Given the description of an element on the screen output the (x, y) to click on. 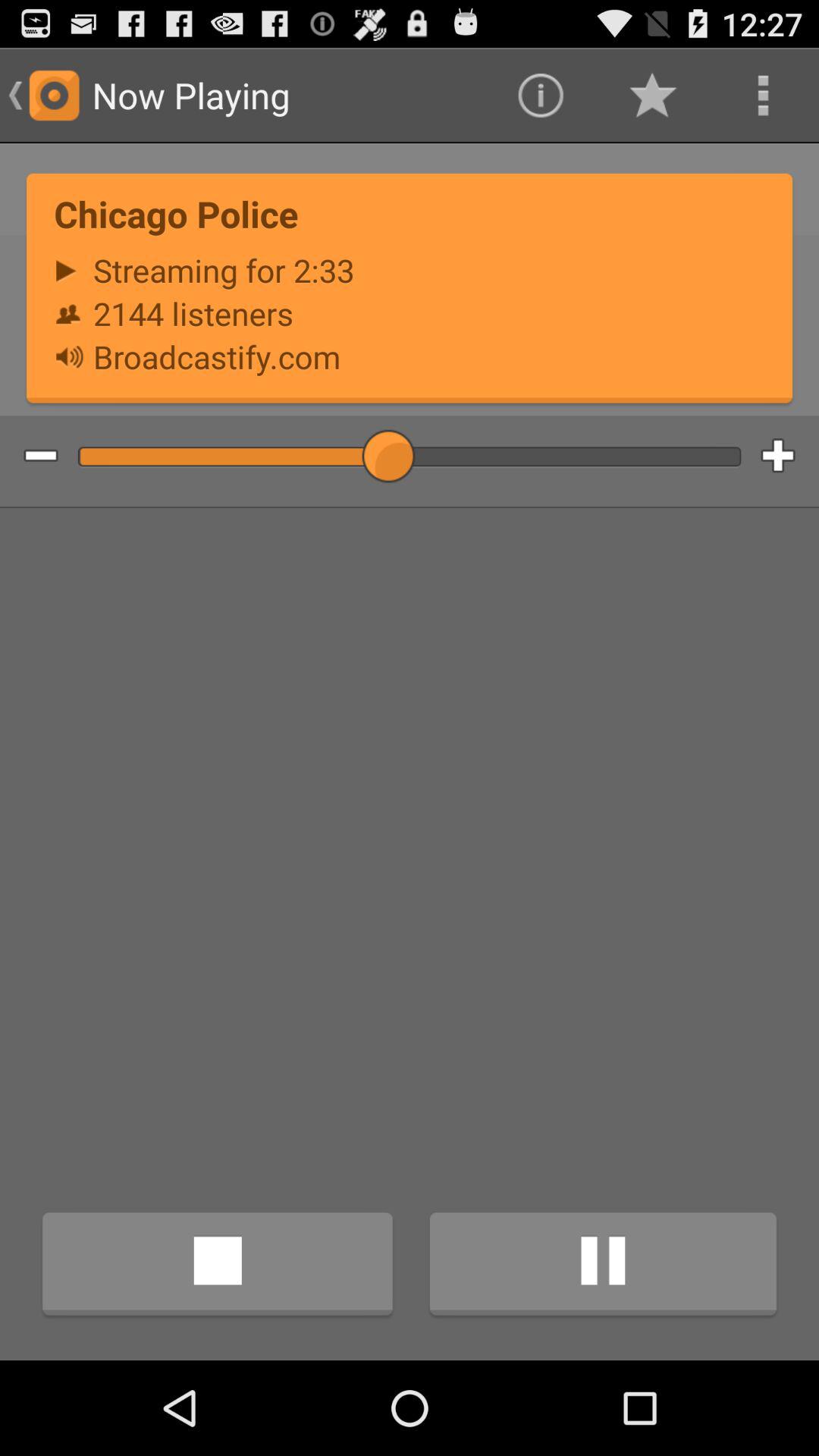
open item above the chicago police item (763, 95)
